Given the description of an element on the screen output the (x, y) to click on. 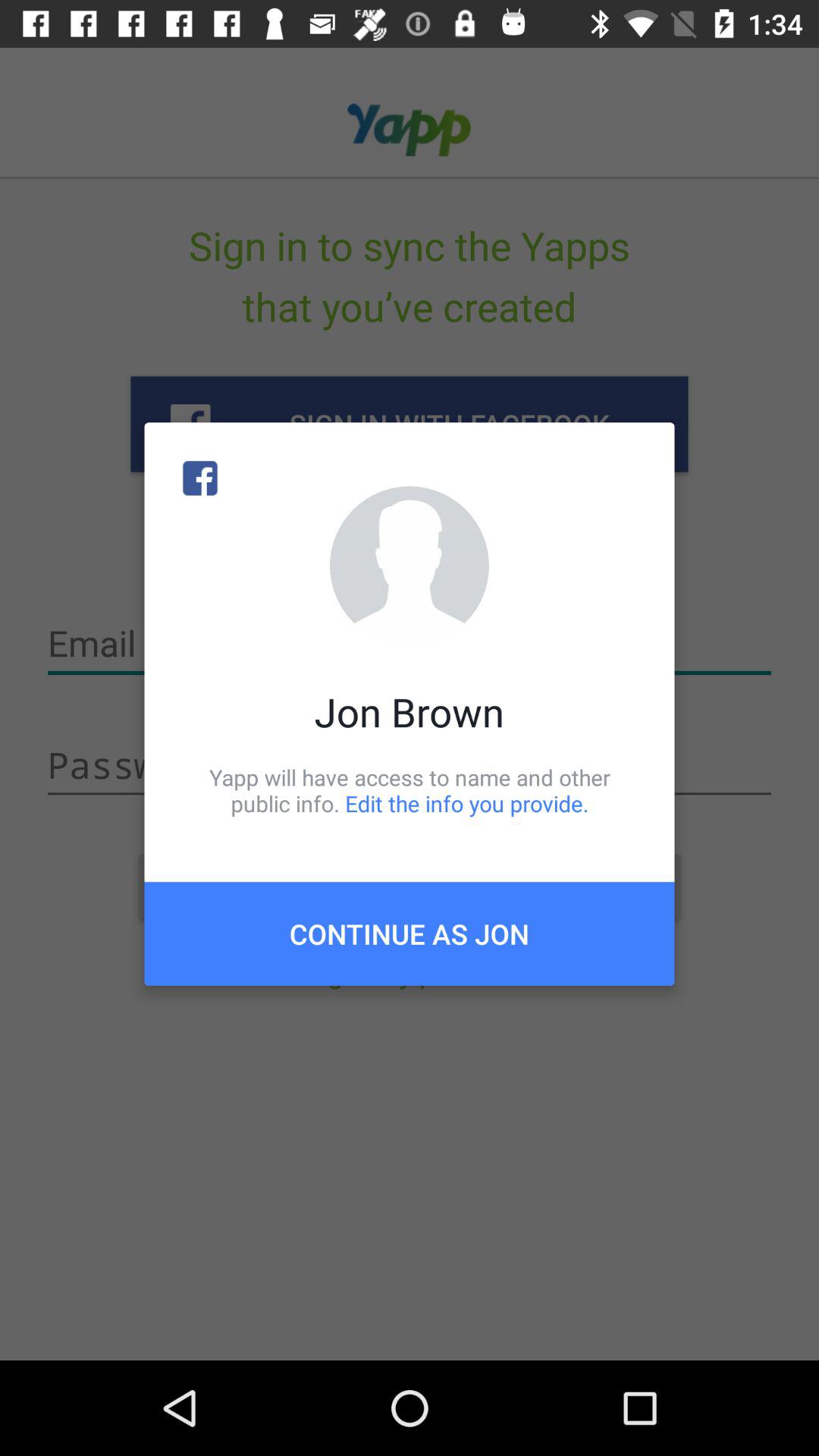
click item below jon brown icon (409, 790)
